Given the description of an element on the screen output the (x, y) to click on. 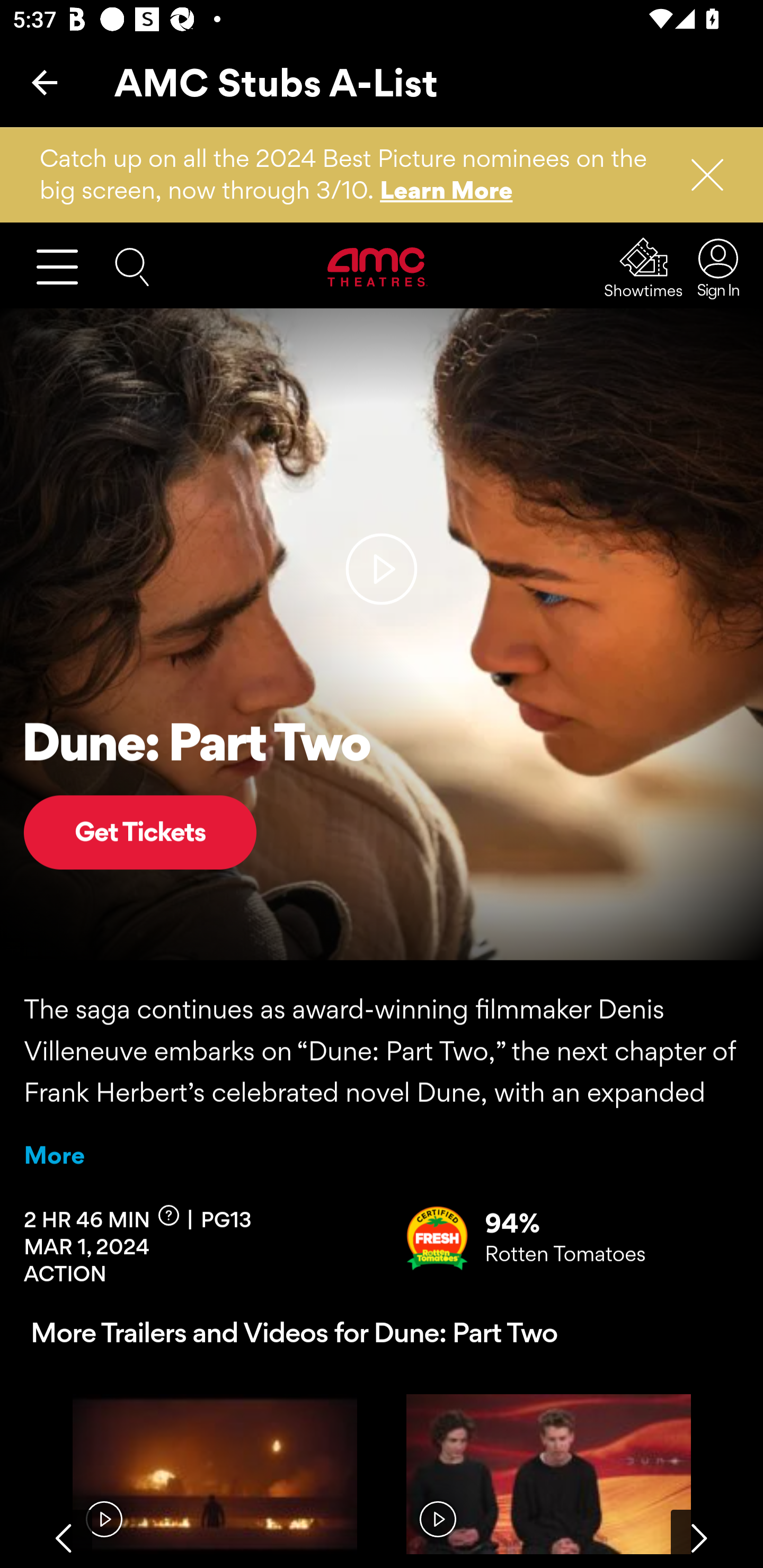
Back (44, 82)
Dismiss Notification (699, 174)
Learn More (446, 189)
Open Menu (64, 266)
Showtimes Showtimes Showtimes (643, 267)
Sign In (713, 267)
Search the AMC website (131, 265)
Visit Home Page AMC Theatres Logo (377, 266)
Play Trailer (381, 569)
get tickets for Dune: Part Two Get Tickets (140, 831)
More (54, 1154)
2 HR 46 MIN | (112, 1217)
videos?videoId=6346503472112 (548, 1473)
Navigate to the previous movie (63, 1536)
Navigate to the next movie (698, 1536)
